Given the description of an element on the screen output the (x, y) to click on. 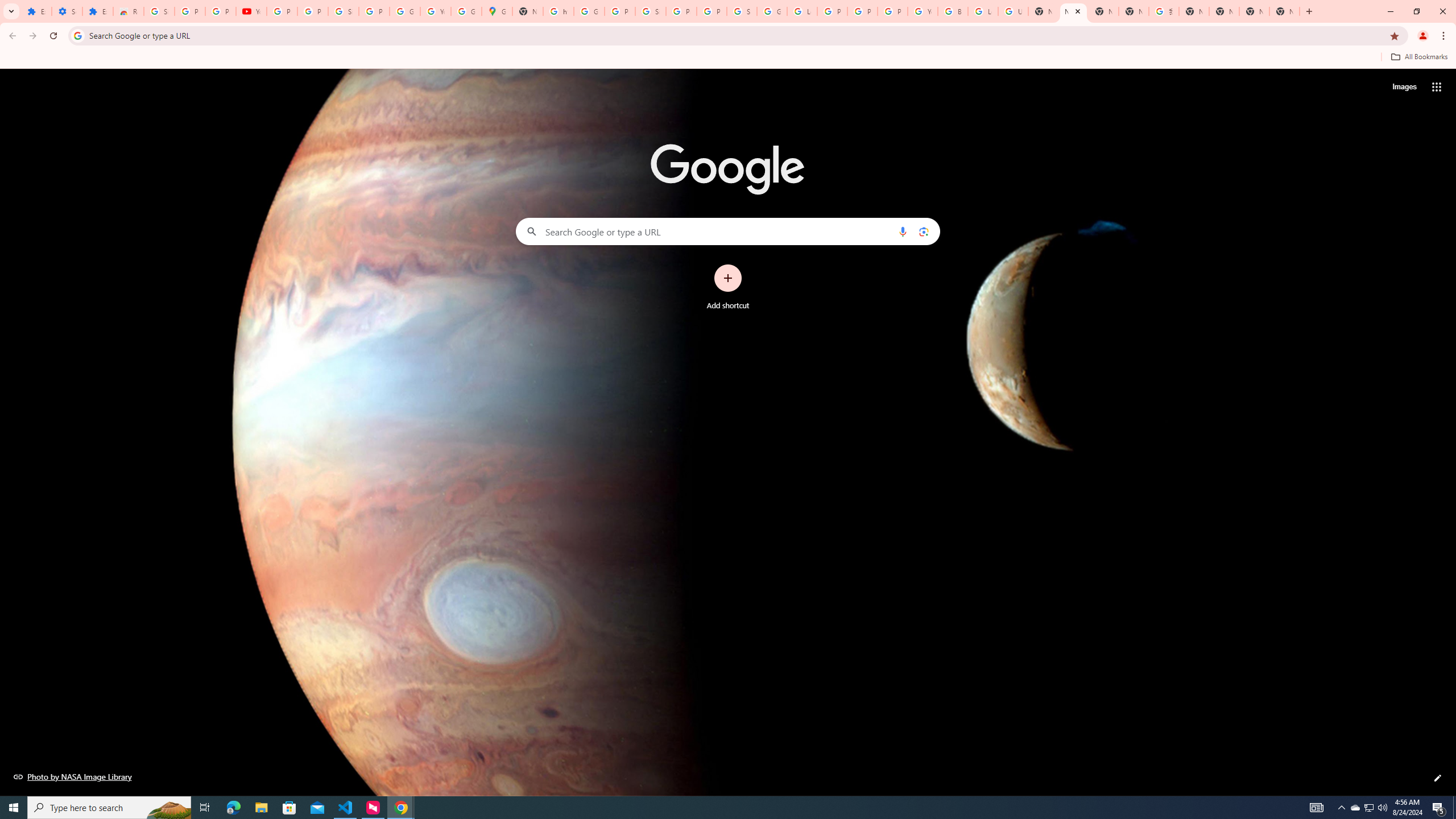
Search Google or type a URL (727, 230)
Minimize (1390, 11)
Add shortcut (727, 287)
Forward (32, 35)
YouTube (434, 11)
Google Account (404, 11)
Extensions (97, 11)
New Tab (1072, 11)
Search by image (922, 230)
Photo by NASA Image Library (72, 776)
Chrome (1445, 35)
Sign in - Google Accounts (741, 11)
